Given the description of an element on the screen output the (x, y) to click on. 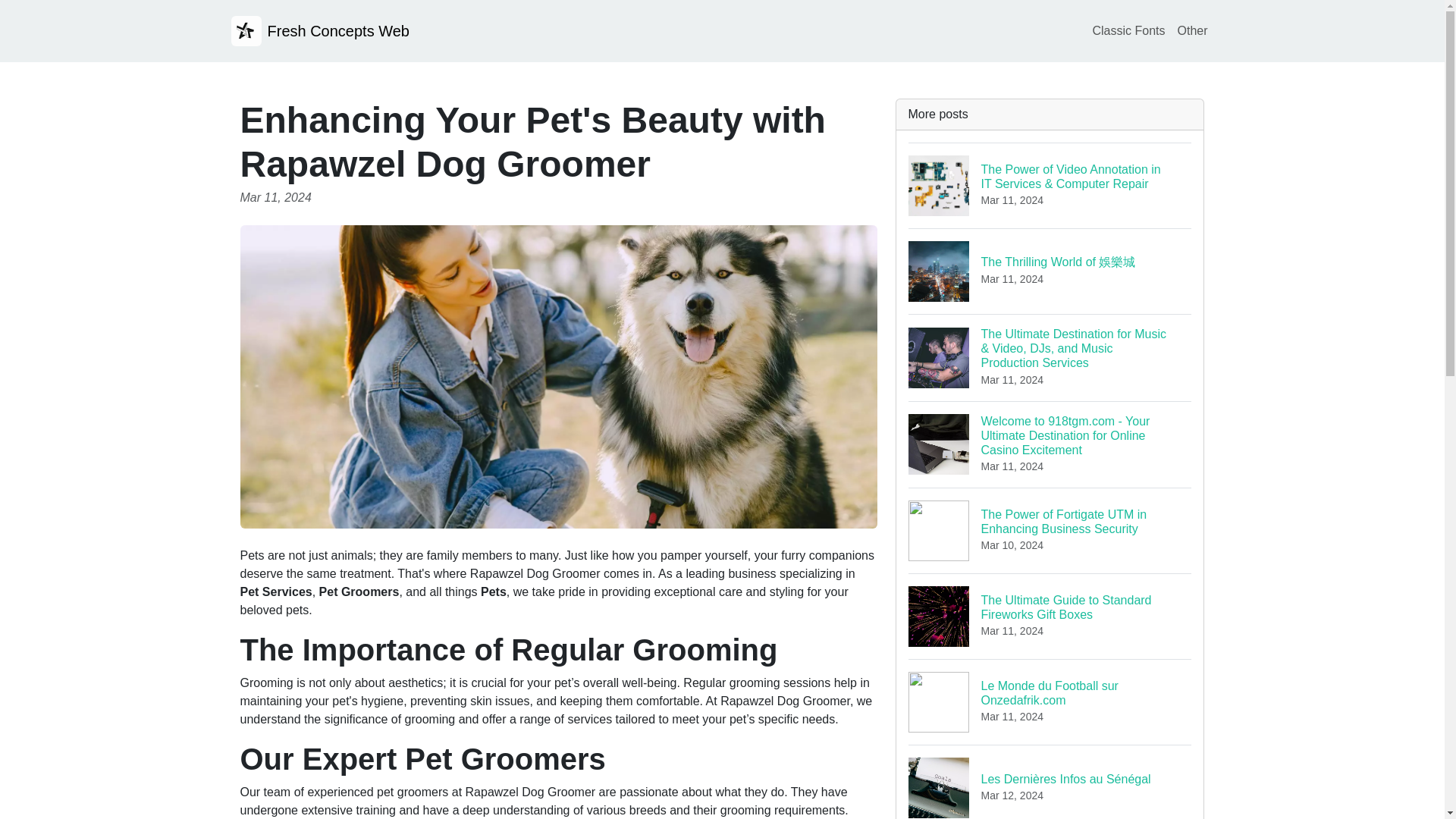
Fresh Concepts Web (319, 30)
Classic Fonts (1050, 701)
Other (1128, 30)
